Given the description of an element on the screen output the (x, y) to click on. 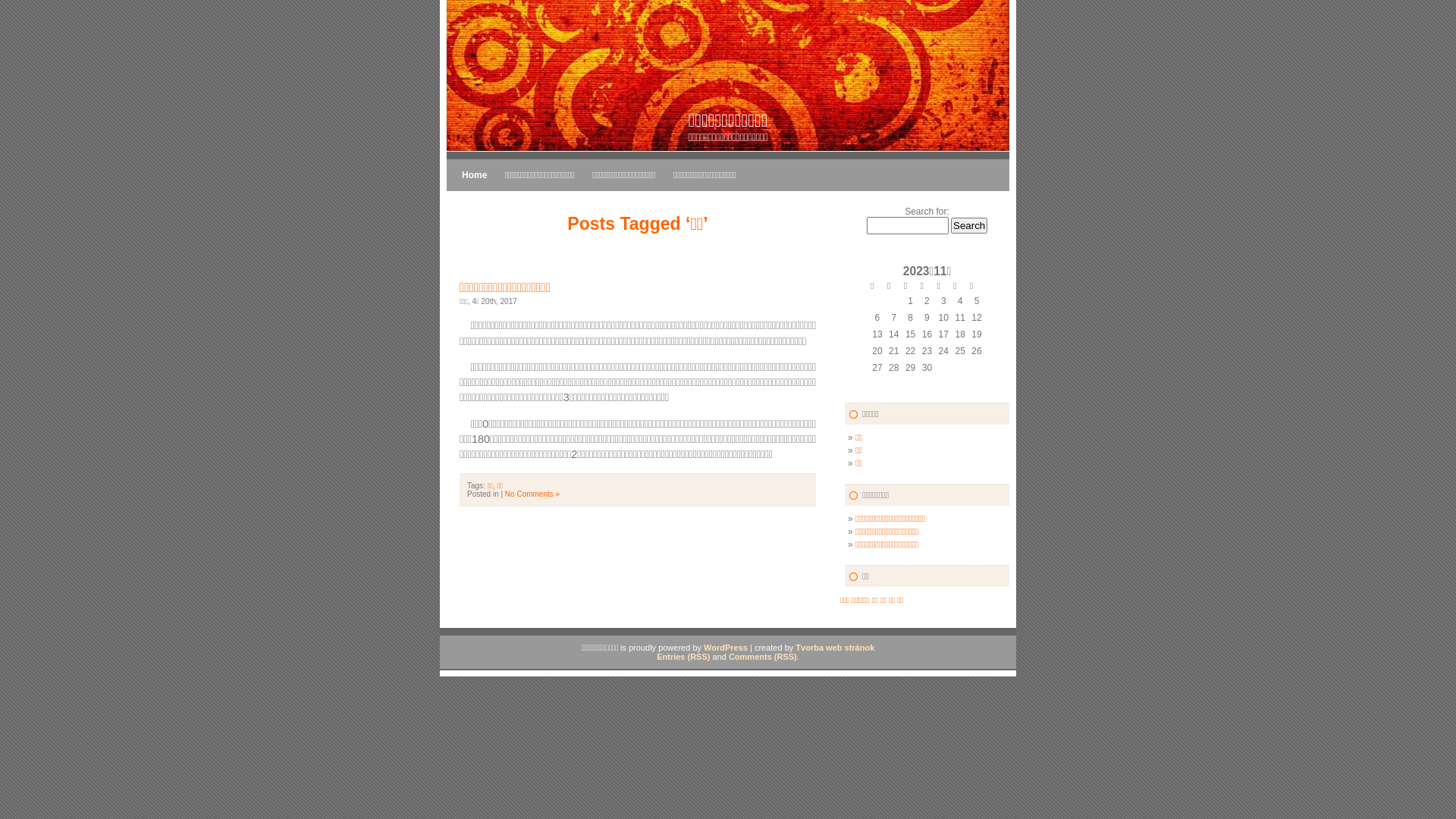
Home Element type: text (466, 174)
Entries (RSS) Element type: text (682, 656)
Search Element type: text (968, 225)
Comments (RSS) Element type: text (762, 656)
WordPress Element type: text (725, 647)
